Given the description of an element on the screen output the (x, y) to click on. 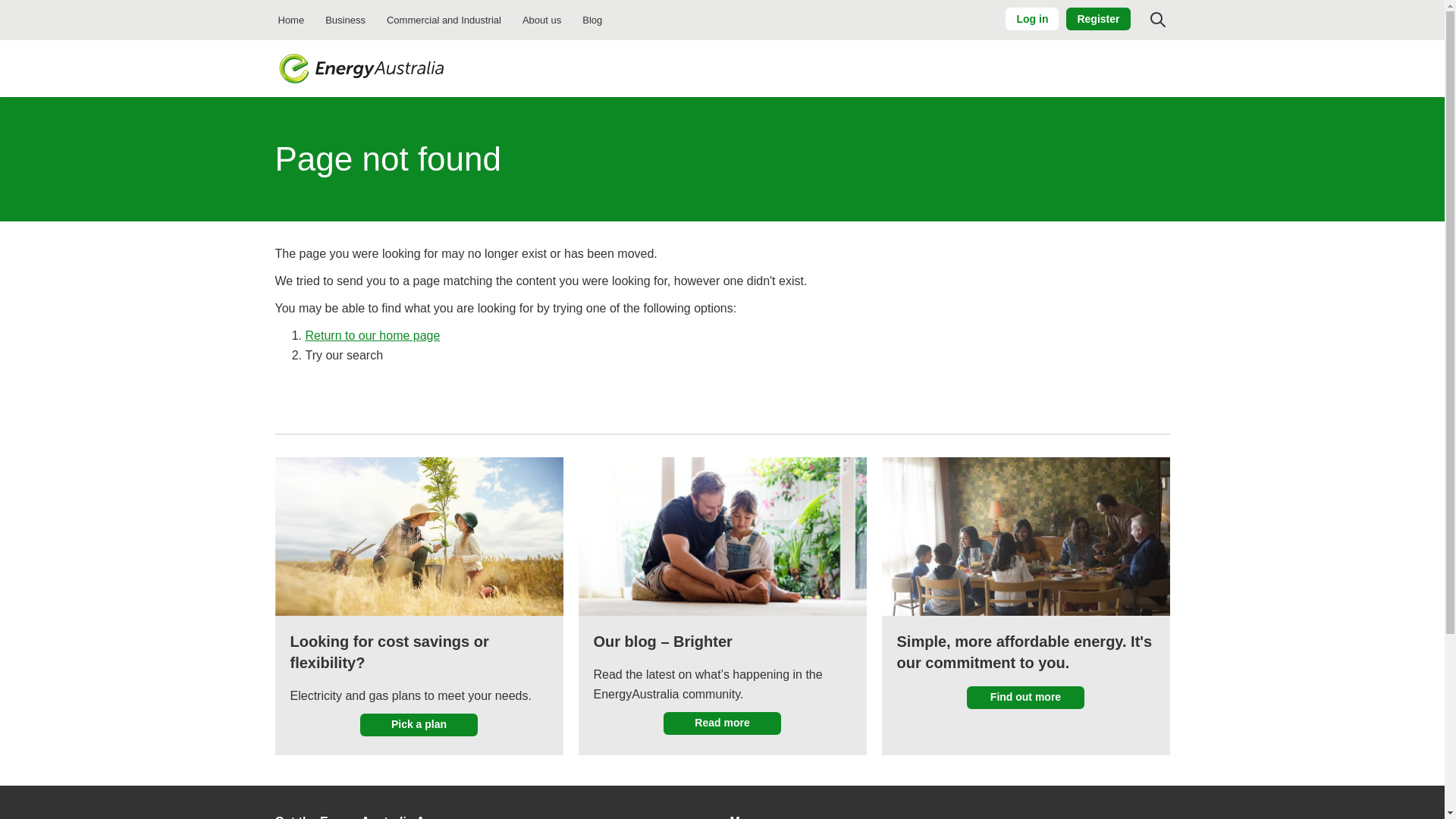
EnergyAustralia blog (592, 20)
Home (360, 68)
